Given the description of an element on the screen output the (x, y) to click on. 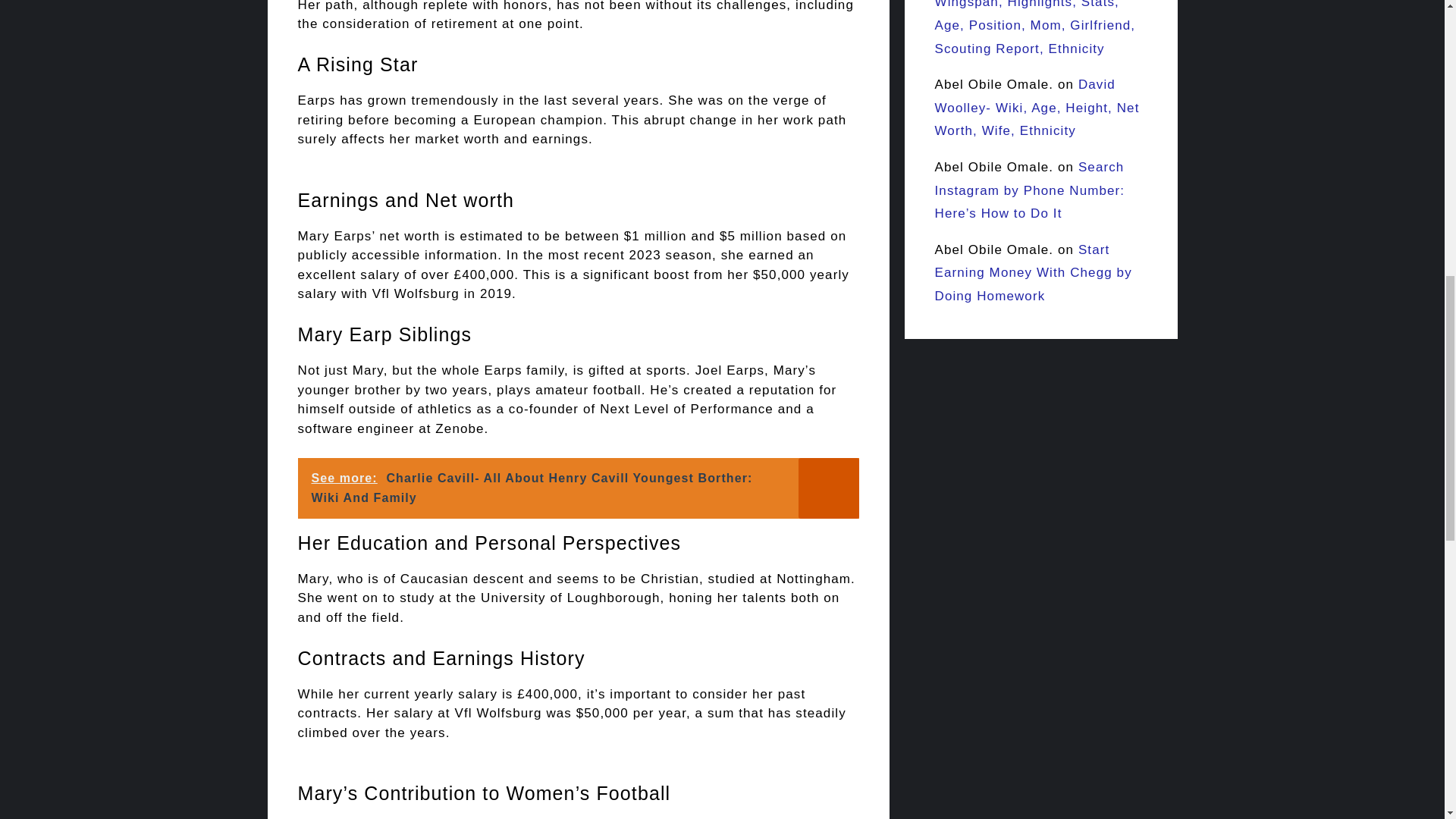
Start Earning Money With Chegg by Doing Homework (1032, 272)
David Woolley- Wiki, Age, Height, Net Worth, Wife, Ethnicity (1036, 107)
